Given the description of an element on the screen output the (x, y) to click on. 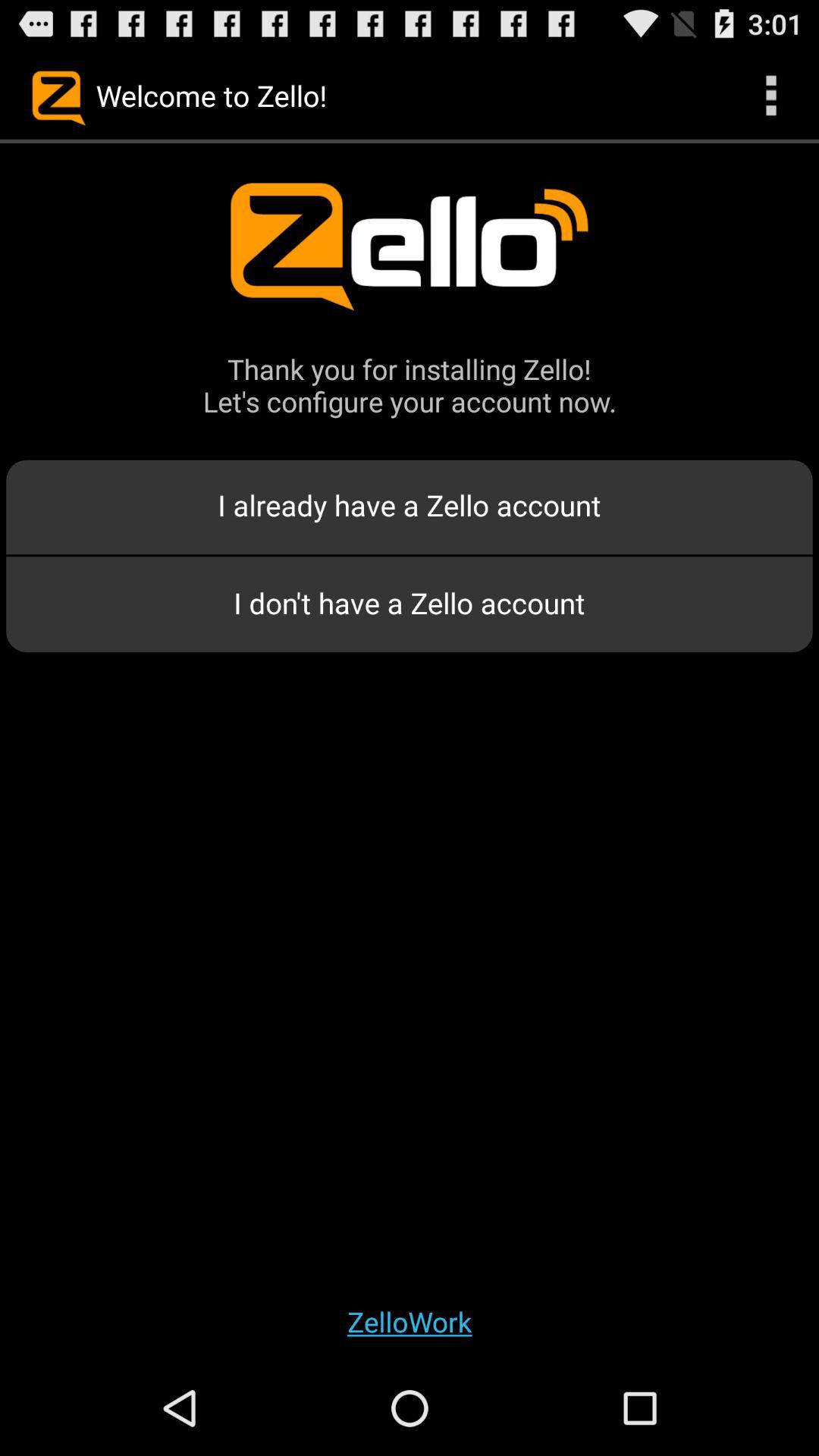
launch the item at the top right corner (771, 95)
